Given the description of an element on the screen output the (x, y) to click on. 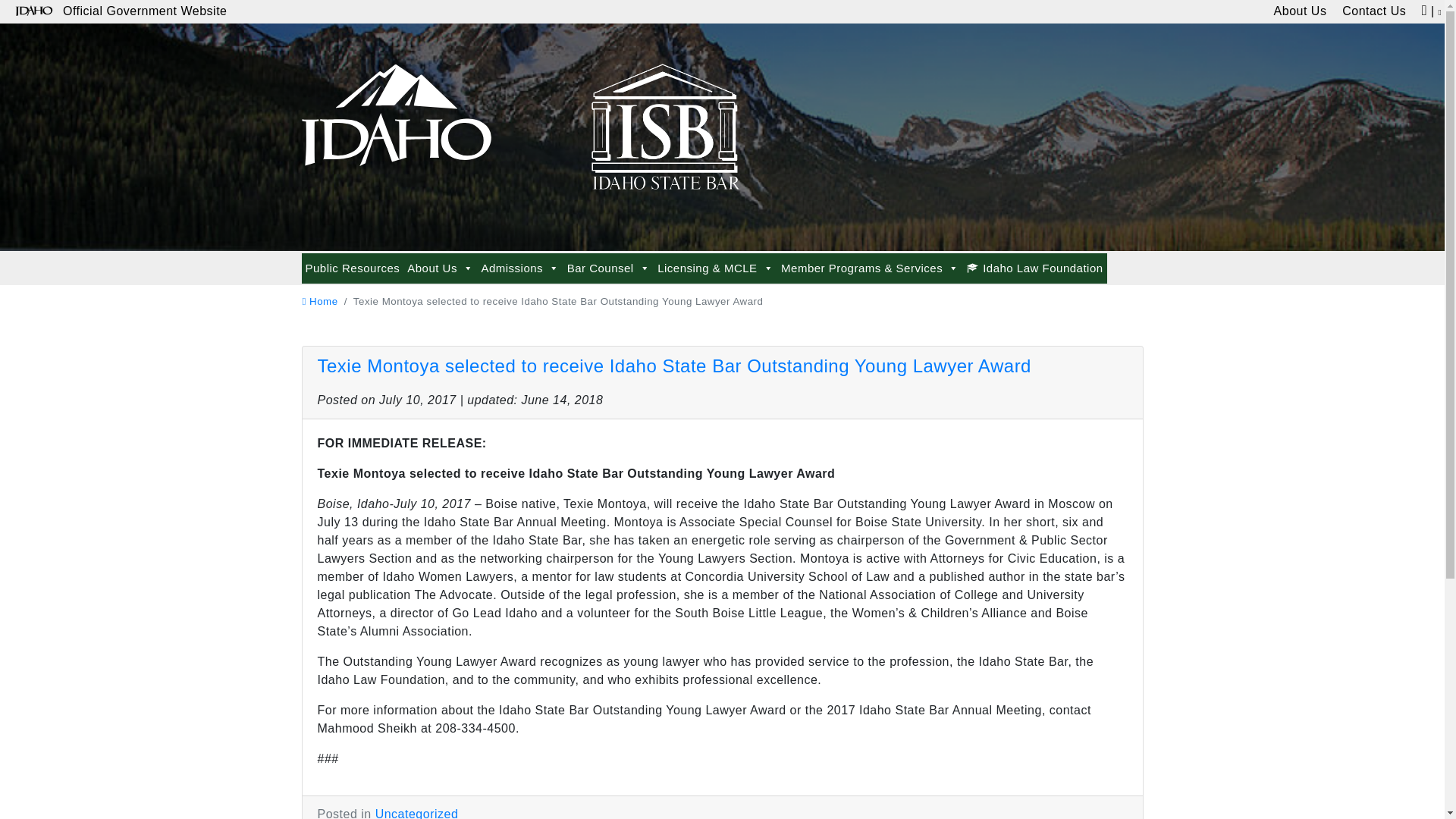
Contact Us (1374, 12)
home (319, 301)
About Us (1300, 12)
Admissions (519, 268)
About Us (440, 268)
Public Resources (352, 268)
State Bar (396, 107)
Bar Counsel (608, 268)
